Given the description of an element on the screen output the (x, y) to click on. 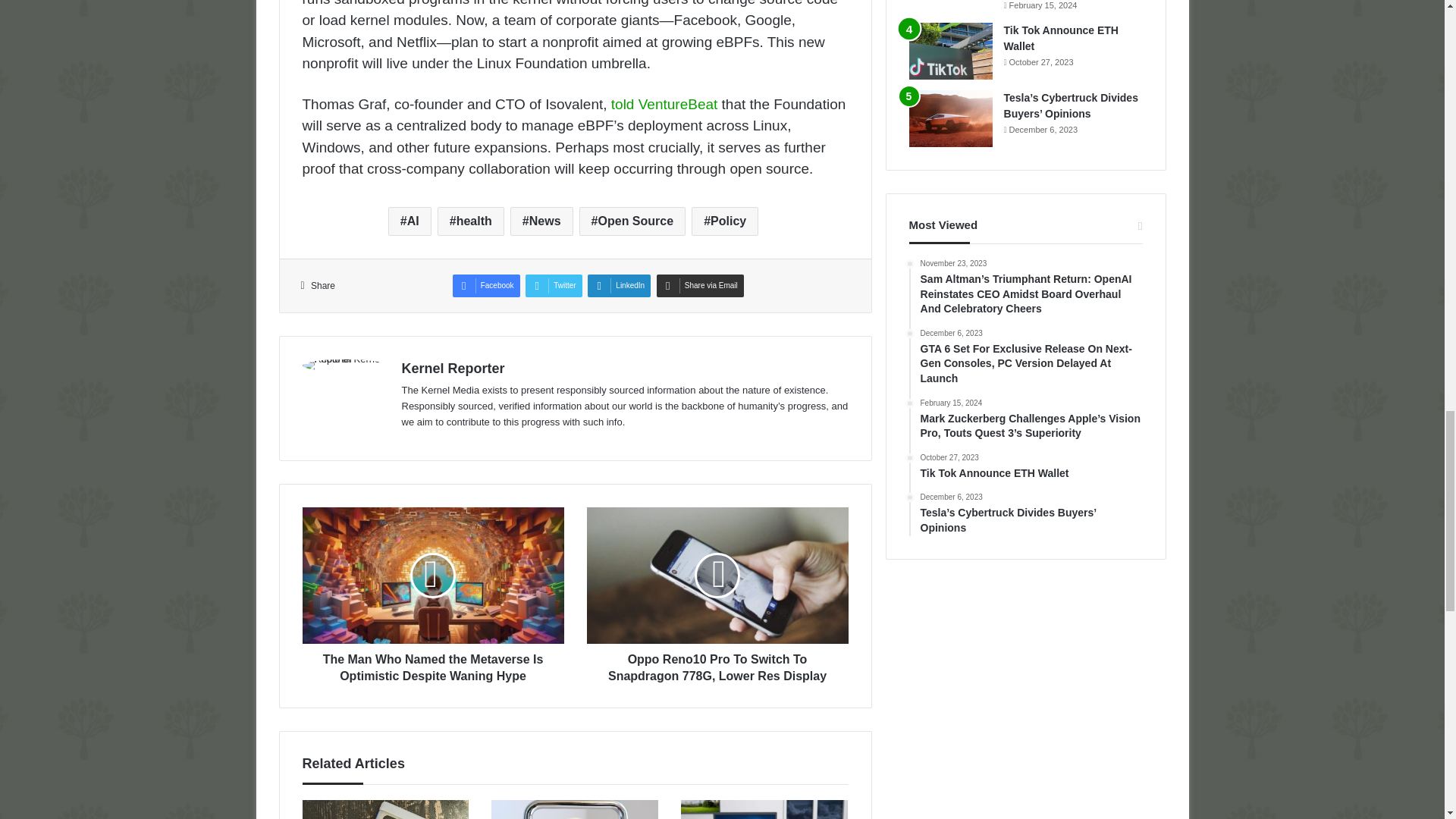
LinkedIn (619, 285)
Share via Email (700, 285)
Twitter (552, 285)
Facebook (485, 285)
